Given the description of an element on the screen output the (x, y) to click on. 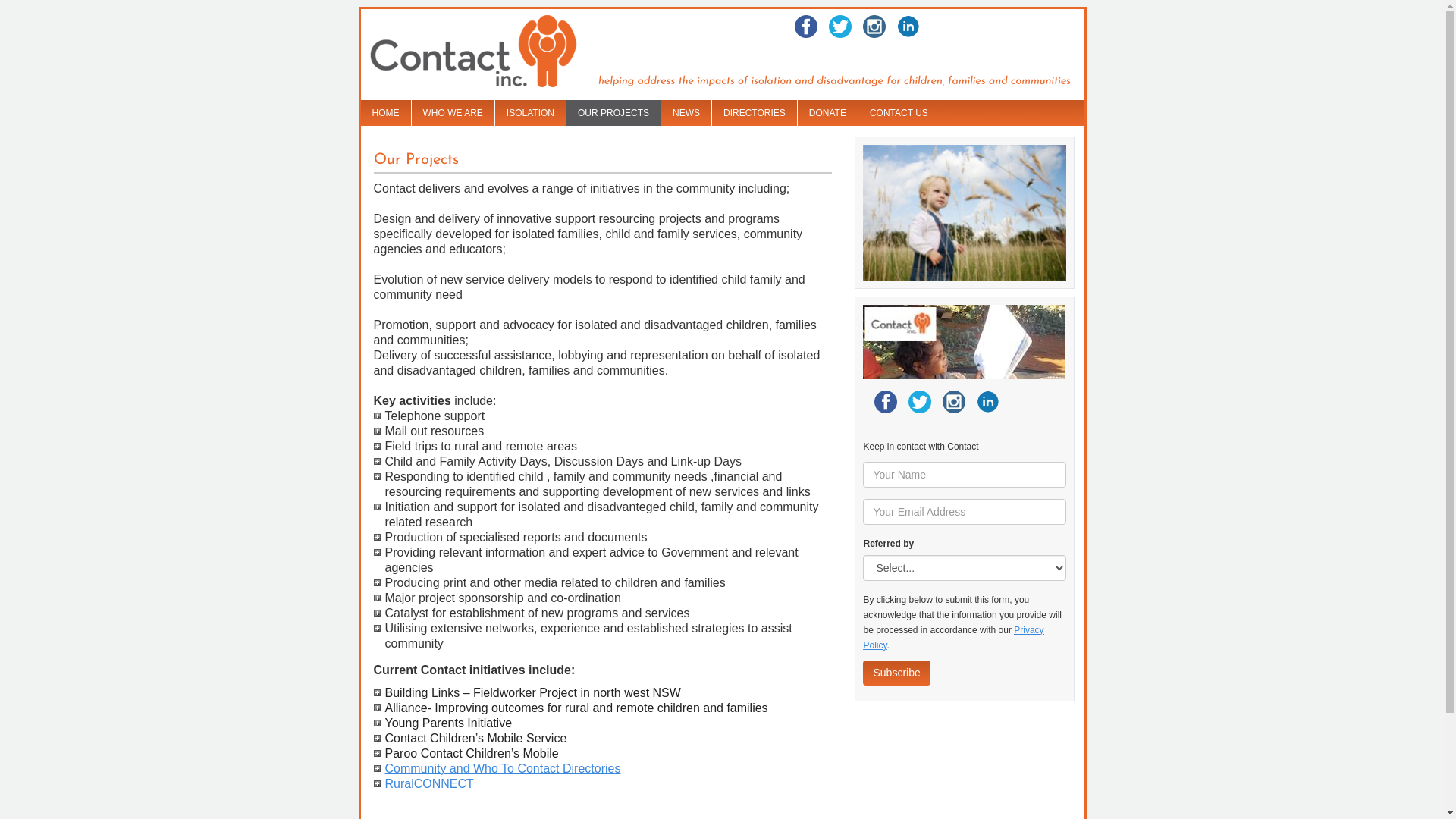
OUR PROJECTS Element type: text (613, 112)
DIRECTORIES Element type: text (754, 112)
Community and Who To Contact Directories Element type: text (503, 768)
Privacy Policy Element type: text (952, 637)
NEWS Element type: text (686, 112)
Contact Inc. home page Element type: hover (496, 53)
Twitter Element type: text (919, 401)
LinkedIn Element type: text (987, 401)
LinkedIn Element type: text (907, 26)
Facebook Element type: text (805, 26)
Twitter Element type: text (839, 26)
Subscribe Element type: text (895, 673)
CONTACT US Element type: text (898, 112)
RuralCONNECT Element type: text (429, 783)
Twitter Element type: text (953, 401)
DONATE Element type: text (827, 112)
Twitter Element type: text (873, 26)
WHO WE ARE Element type: text (452, 112)
Facebook Element type: text (885, 401)
HOME Element type: text (385, 112)
ISOLATION Element type: text (530, 112)
